Given the description of an element on the screen output the (x, y) to click on. 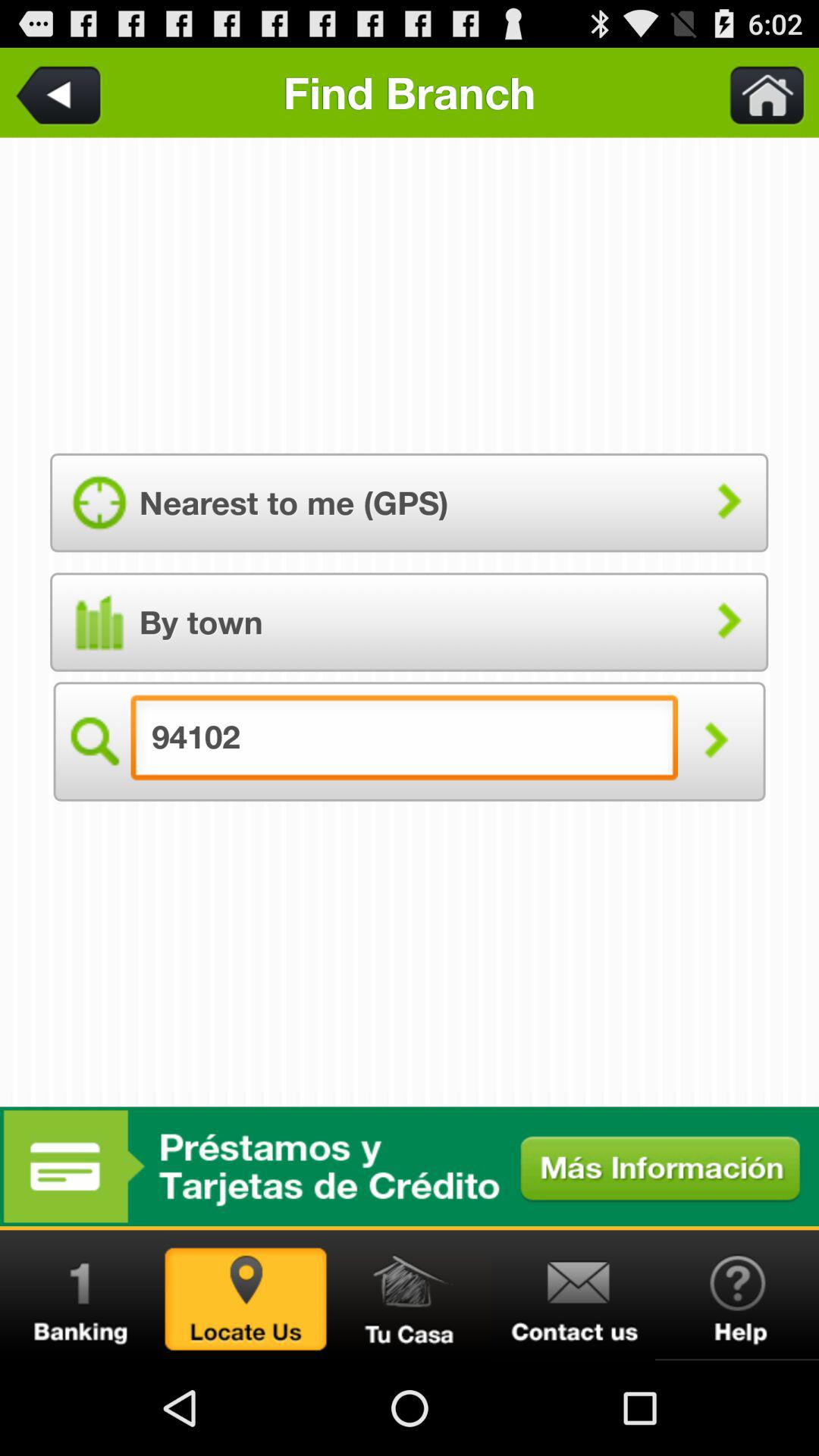
switch to help menu (737, 1295)
